Given the description of an element on the screen output the (x, y) to click on. 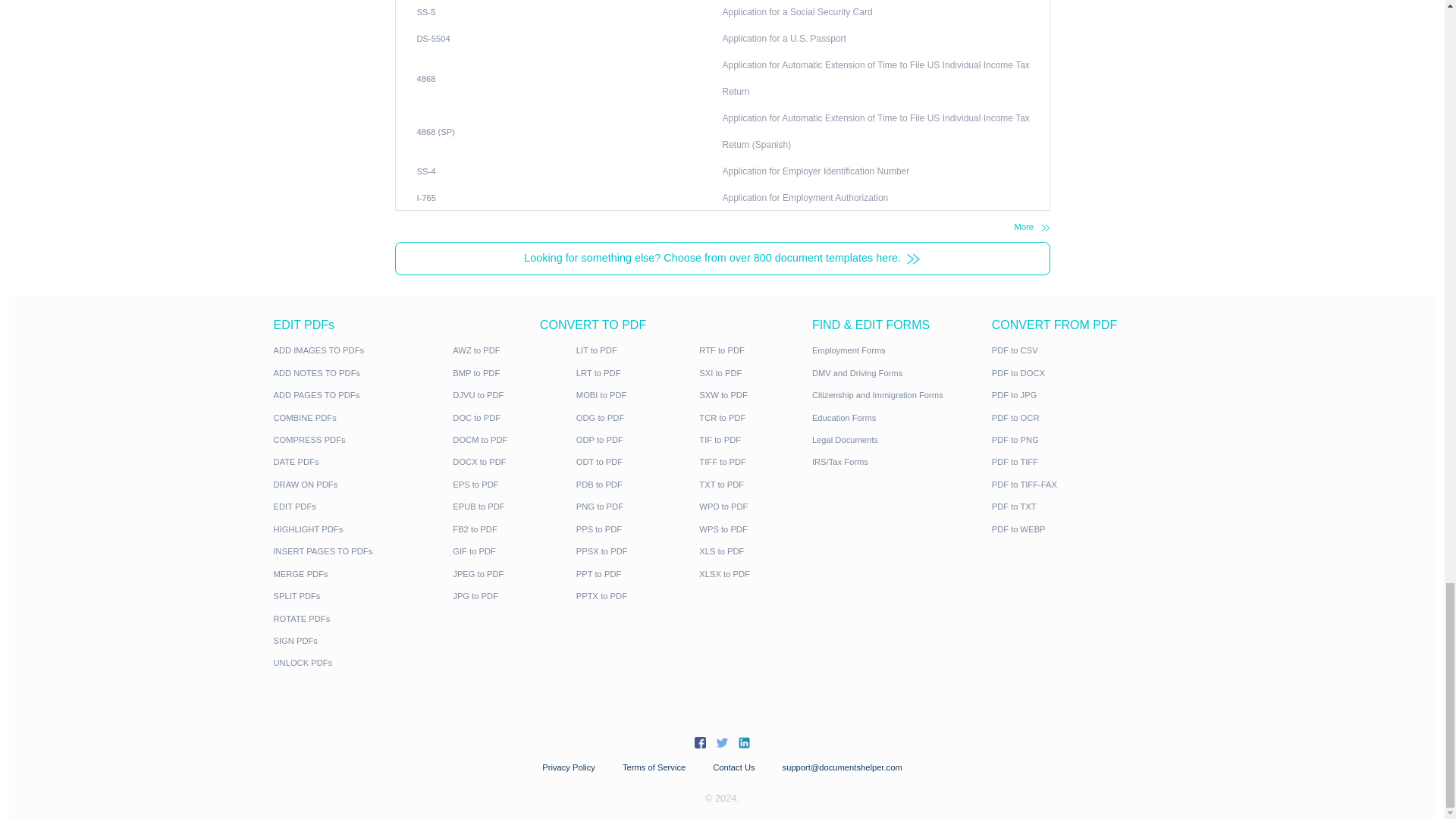
Click here to edit (578, 164)
Affidavit of Support (950, 469)
SS-5 (532, 536)
Affidavit of Support Under Section 213A of the Act (1028, 502)
SS-4 (532, 735)
Get Form now (607, 236)
Application for Employment Authorization (1005, 767)
I-864 (532, 502)
Application for Employer Identification Number (1019, 735)
More (1290, 803)
